Given the description of an element on the screen output the (x, y) to click on. 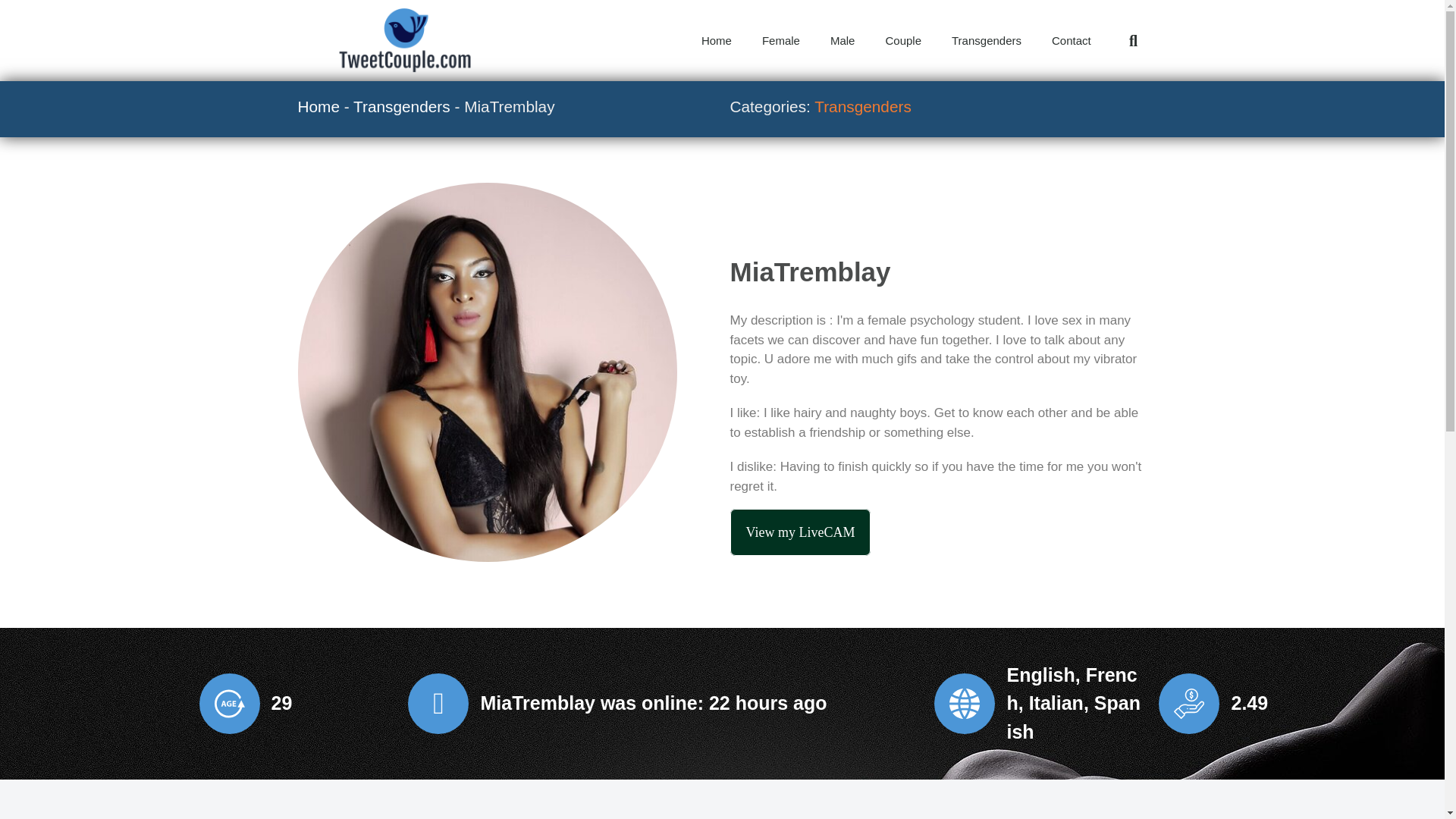
View my LiveCAM (799, 532)
Female (780, 40)
Female (780, 40)
Transgenders (986, 40)
Contact (1071, 40)
Home (318, 106)
Transgenders (986, 40)
Contact (1071, 40)
Transgenders (401, 106)
